Given the description of an element on the screen output the (x, y) to click on. 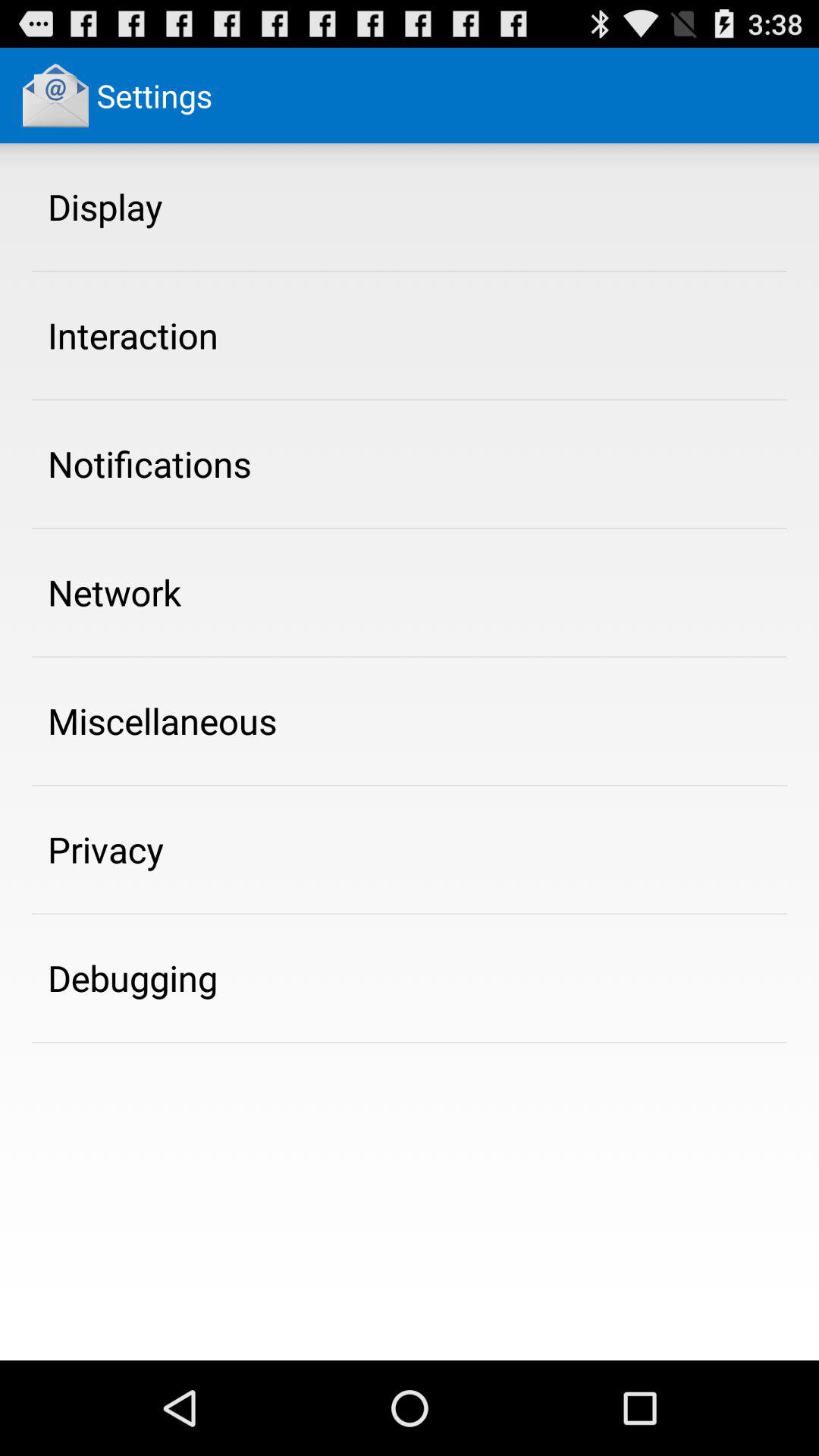
tap the item above the miscellaneous app (114, 592)
